Given the description of an element on the screen output the (x, y) to click on. 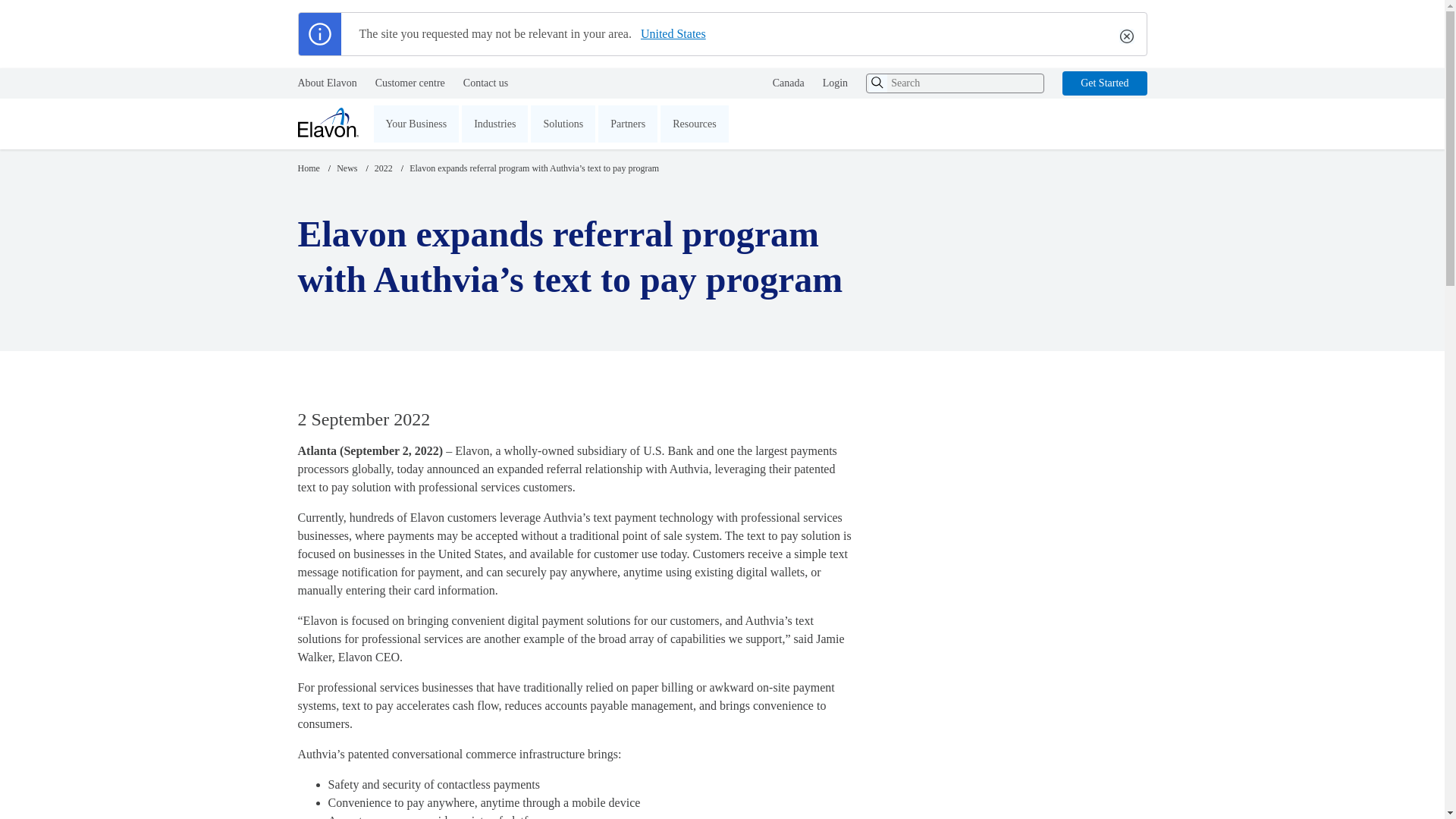
Your Business (415, 124)
Customer centre (410, 83)
2022 (383, 168)
Partners (628, 124)
Resources (695, 124)
Home (307, 168)
News (346, 168)
About Elavon (326, 83)
Industries (494, 124)
Get Started (1104, 83)
Solutions (563, 124)
Login (834, 83)
United States (668, 34)
Canada (789, 83)
Contact us (485, 83)
